Given the description of an element on the screen output the (x, y) to click on. 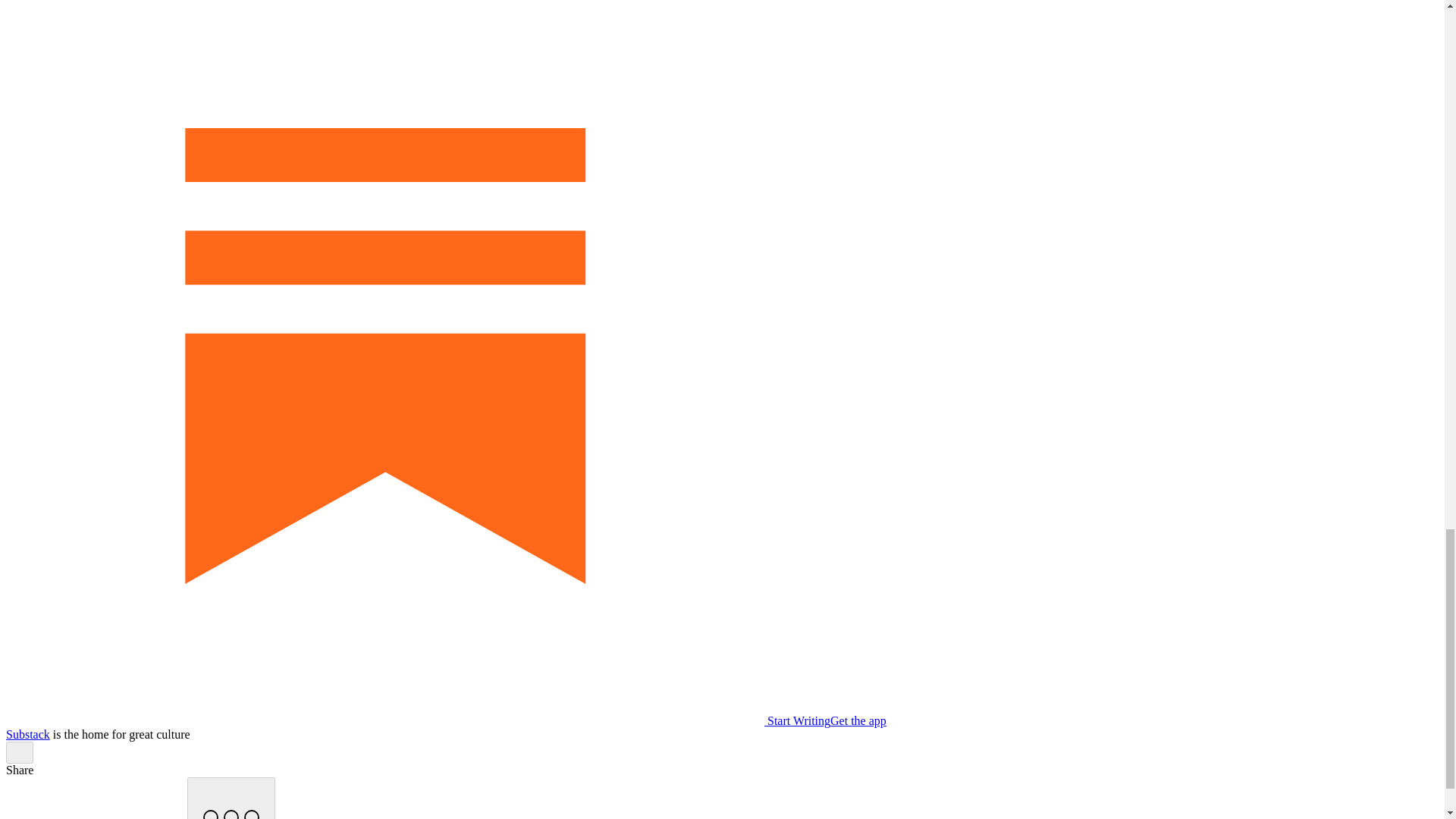
Start Writing (417, 720)
Get the app (857, 720)
Substack (27, 734)
